Given the description of an element on the screen output the (x, y) to click on. 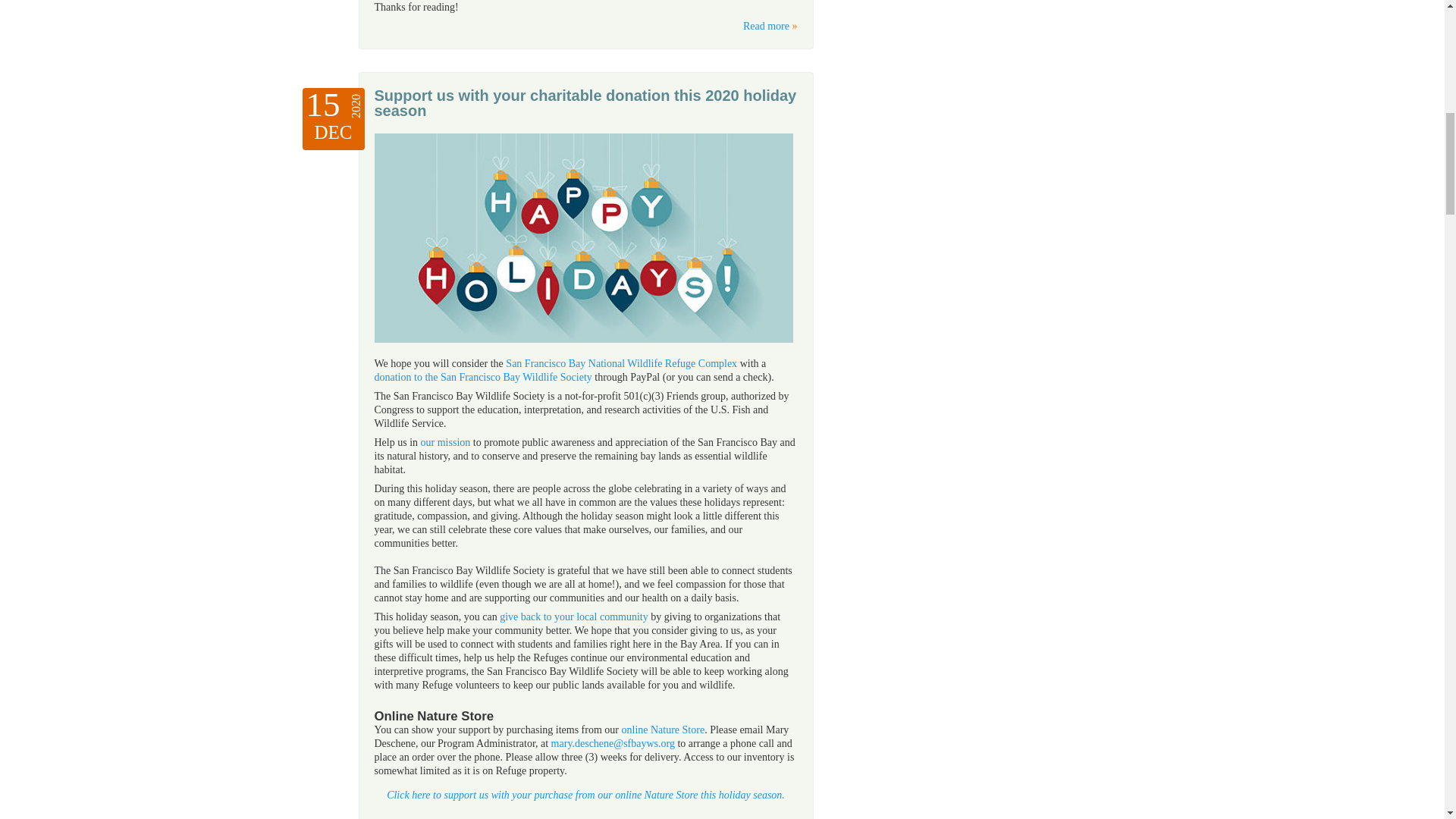
San Francisco Bay National Wildlife Refuge Complex (620, 363)
donation to the San Francisco Bay Wildlife Society (483, 377)
our mission (445, 441)
give back to your local community (573, 616)
online Nature Store (662, 729)
